Given the description of an element on the screen output the (x, y) to click on. 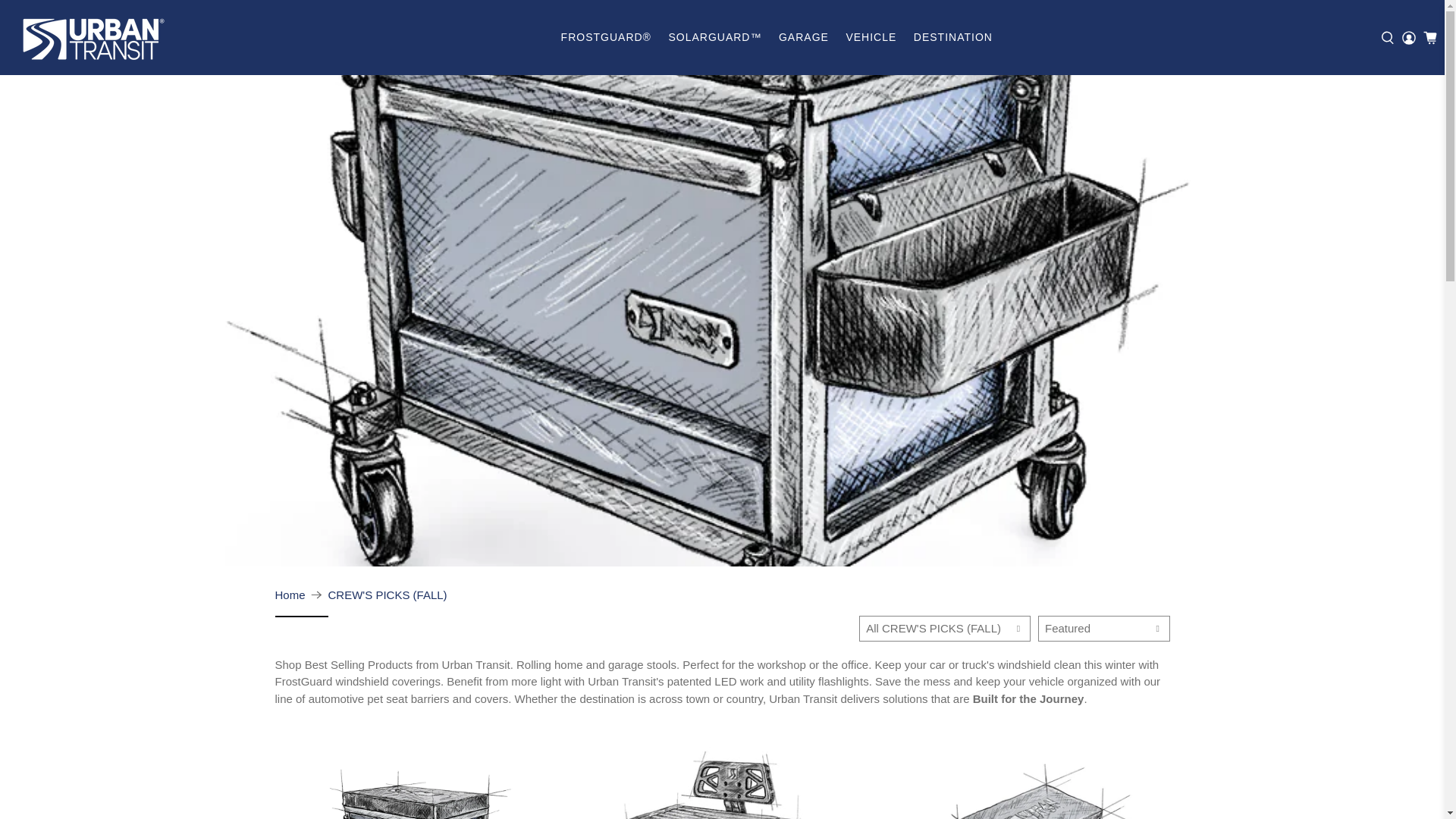
DESTINATION (953, 37)
VEHICLE (870, 37)
GARAGE (803, 37)
